Given the description of an element on the screen output the (x, y) to click on. 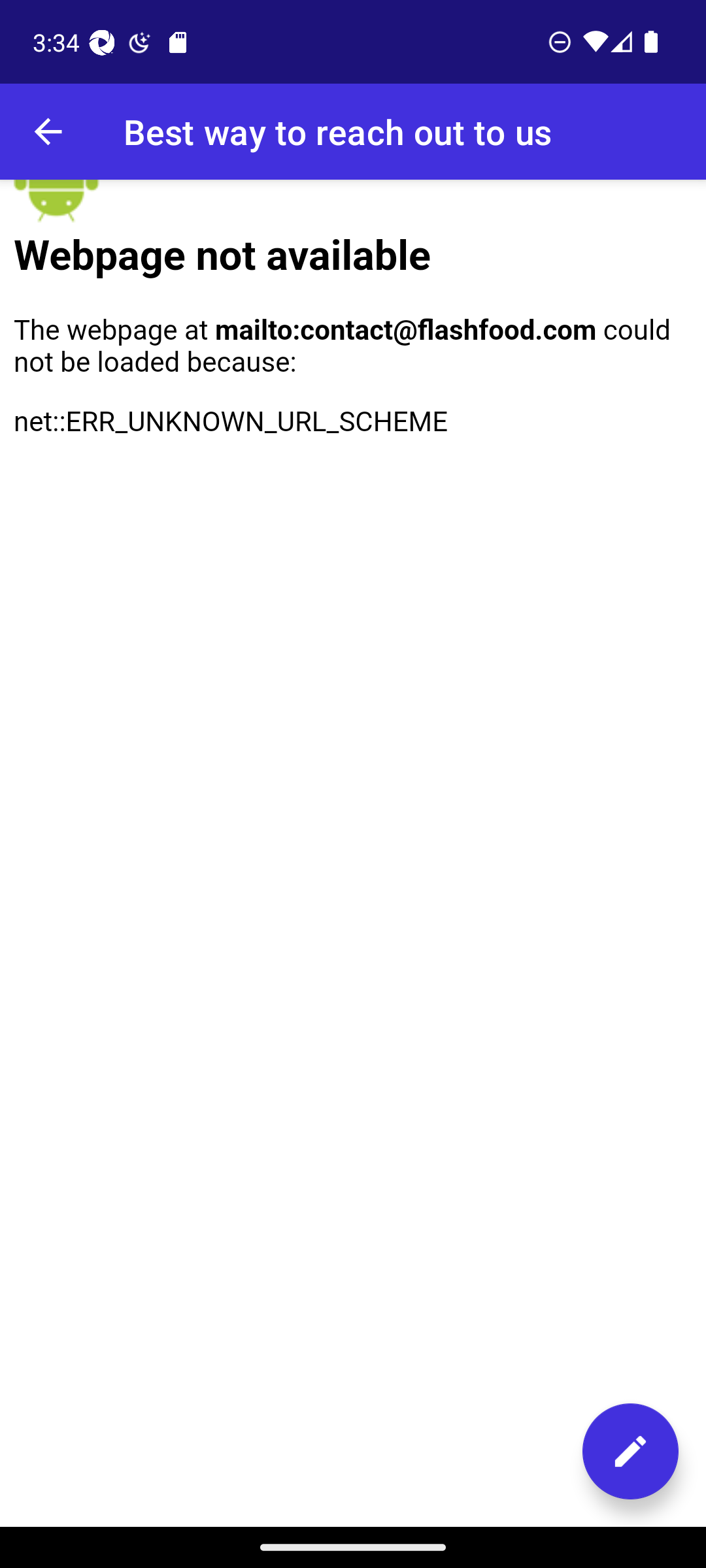
Navigate up (48, 131)
Contact us (630, 1451)
